Given the description of an element on the screen output the (x, y) to click on. 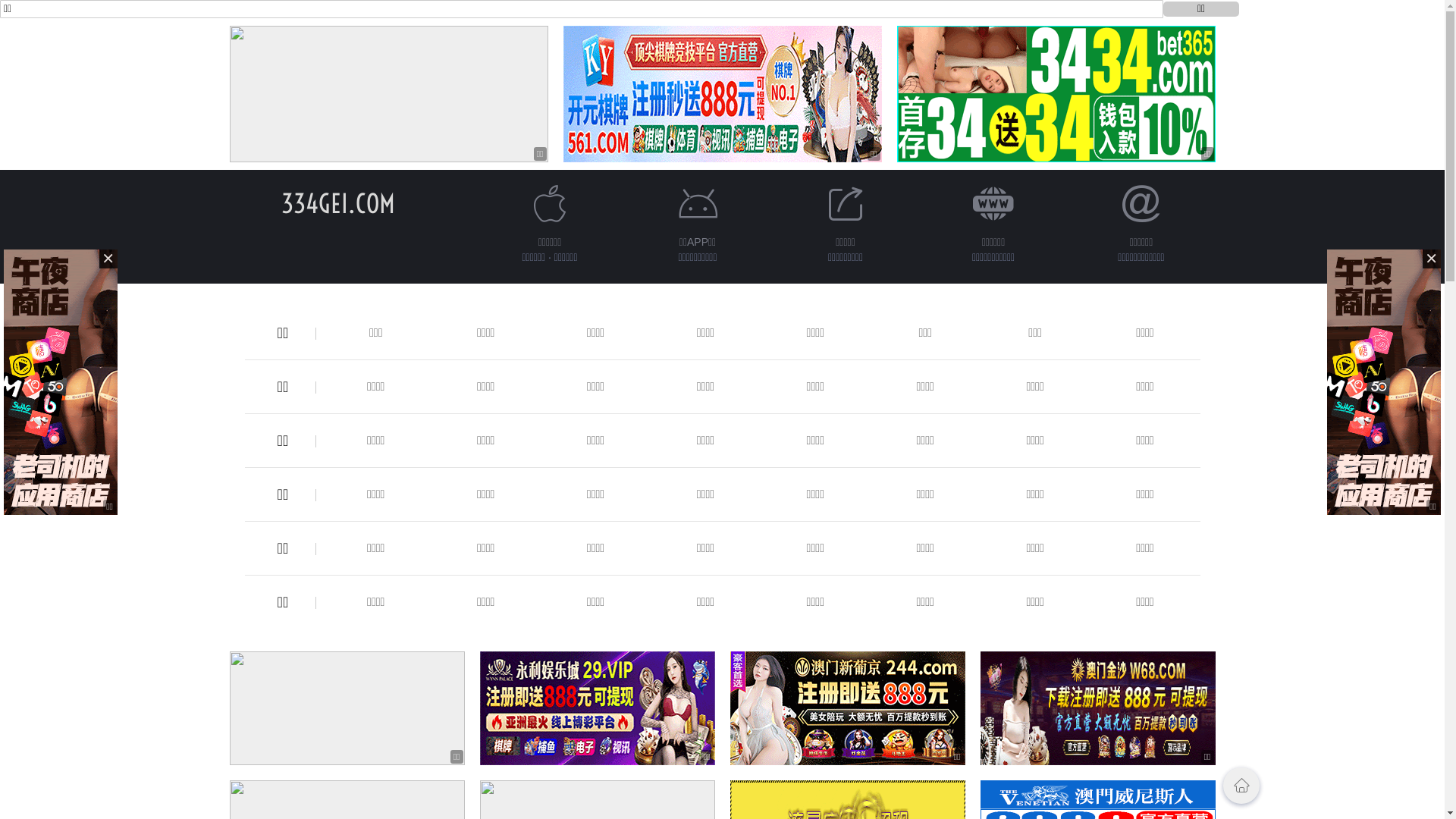
334GEI.COM Element type: text (337, 203)
